Given the description of an element on the screen output the (x, y) to click on. 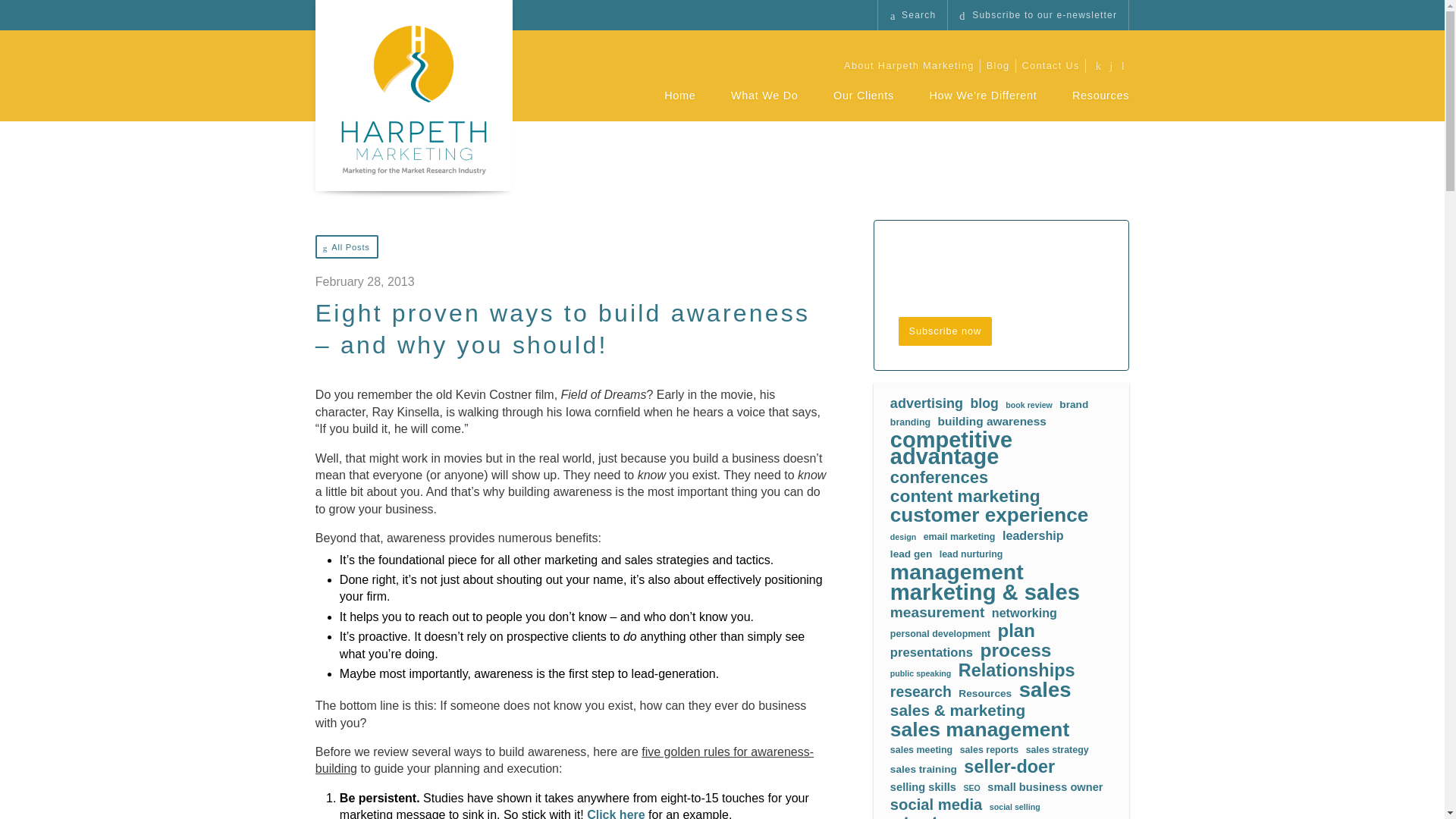
Resources (1100, 105)
brand (1073, 404)
Home (679, 105)
Contact Us (1051, 66)
Click here (615, 813)
Subscribe now (944, 331)
book review (1029, 404)
About Harpeth Marketing (909, 66)
building awareness (991, 421)
advertising (925, 402)
